Given the description of an element on the screen output the (x, y) to click on. 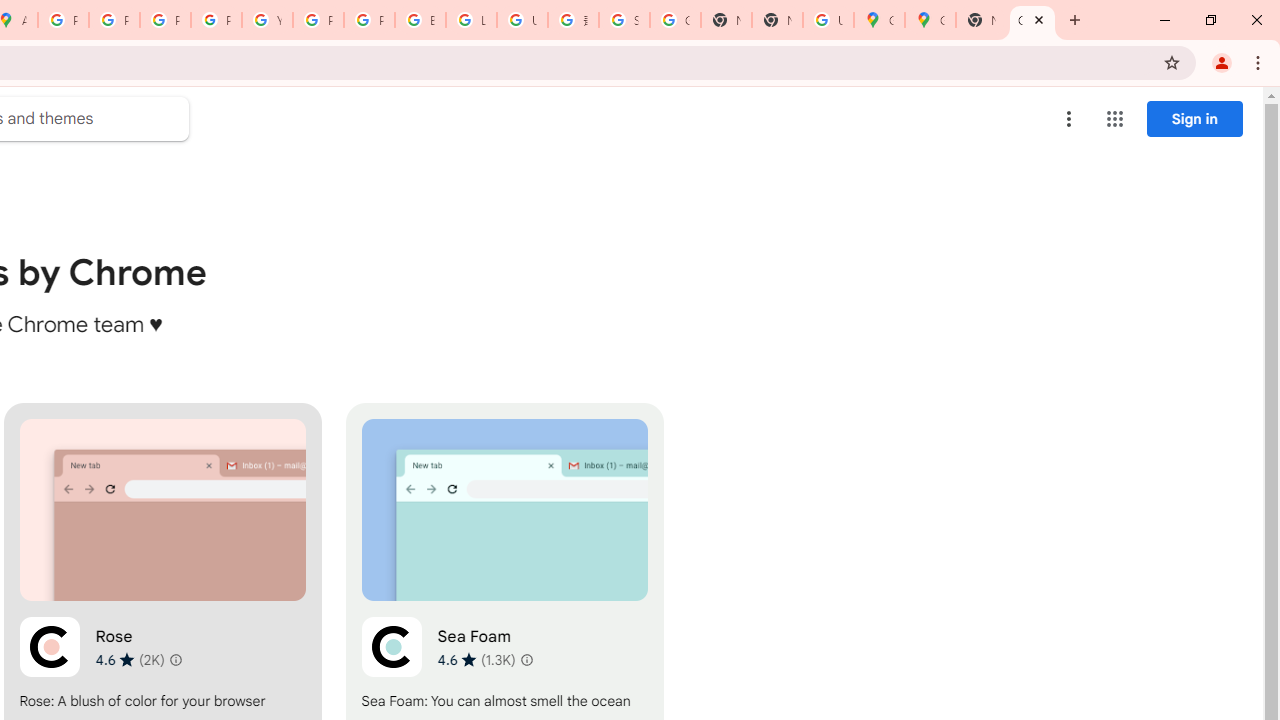
Learn more about results and reviews "Sea Foam" (526, 659)
Policy Accountability and Transparency - Transparency Center (63, 20)
